Given the description of an element on the screen output the (x, y) to click on. 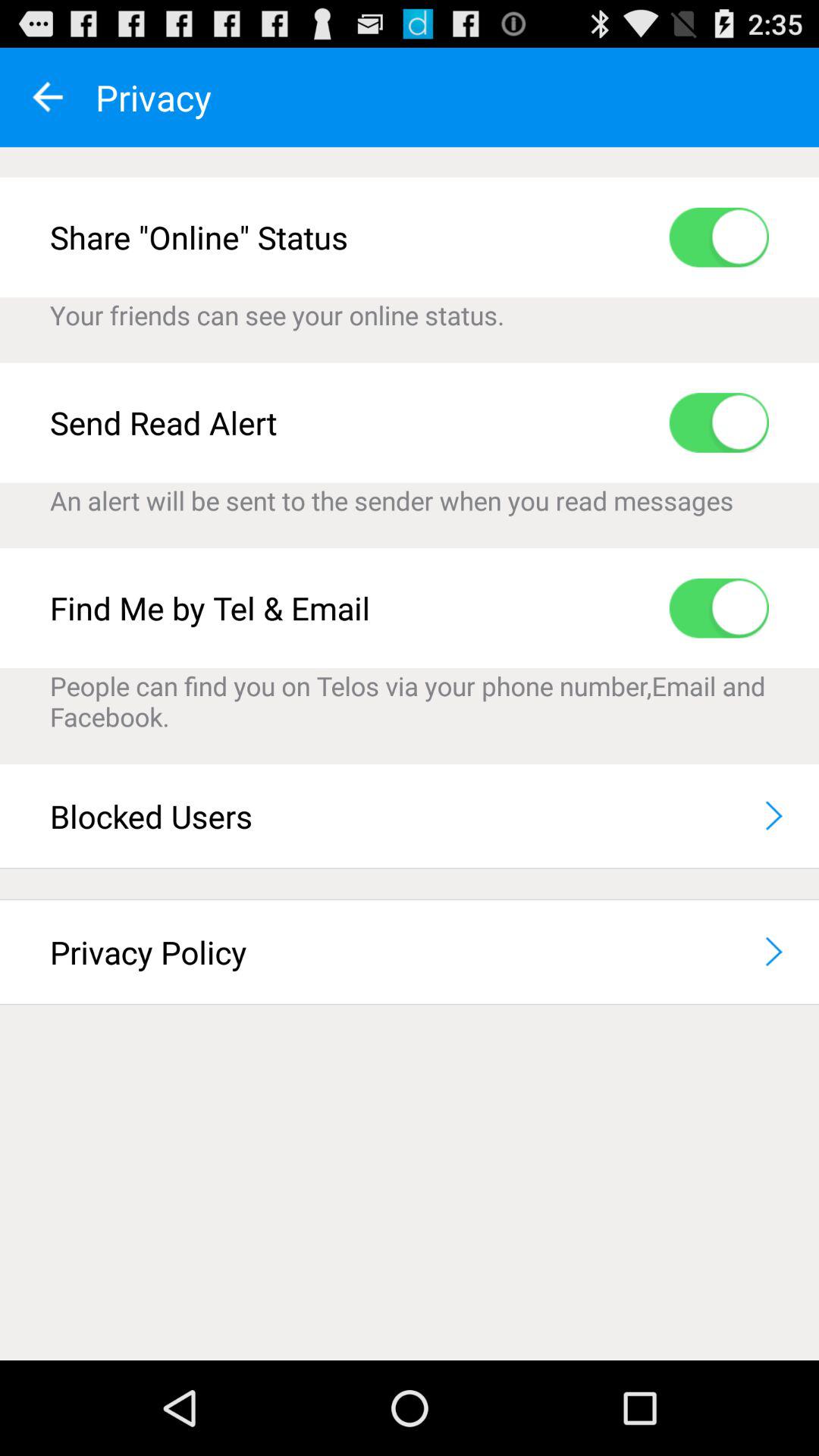
open the app above your friends can app (718, 237)
